Given the description of an element on the screen output the (x, y) to click on. 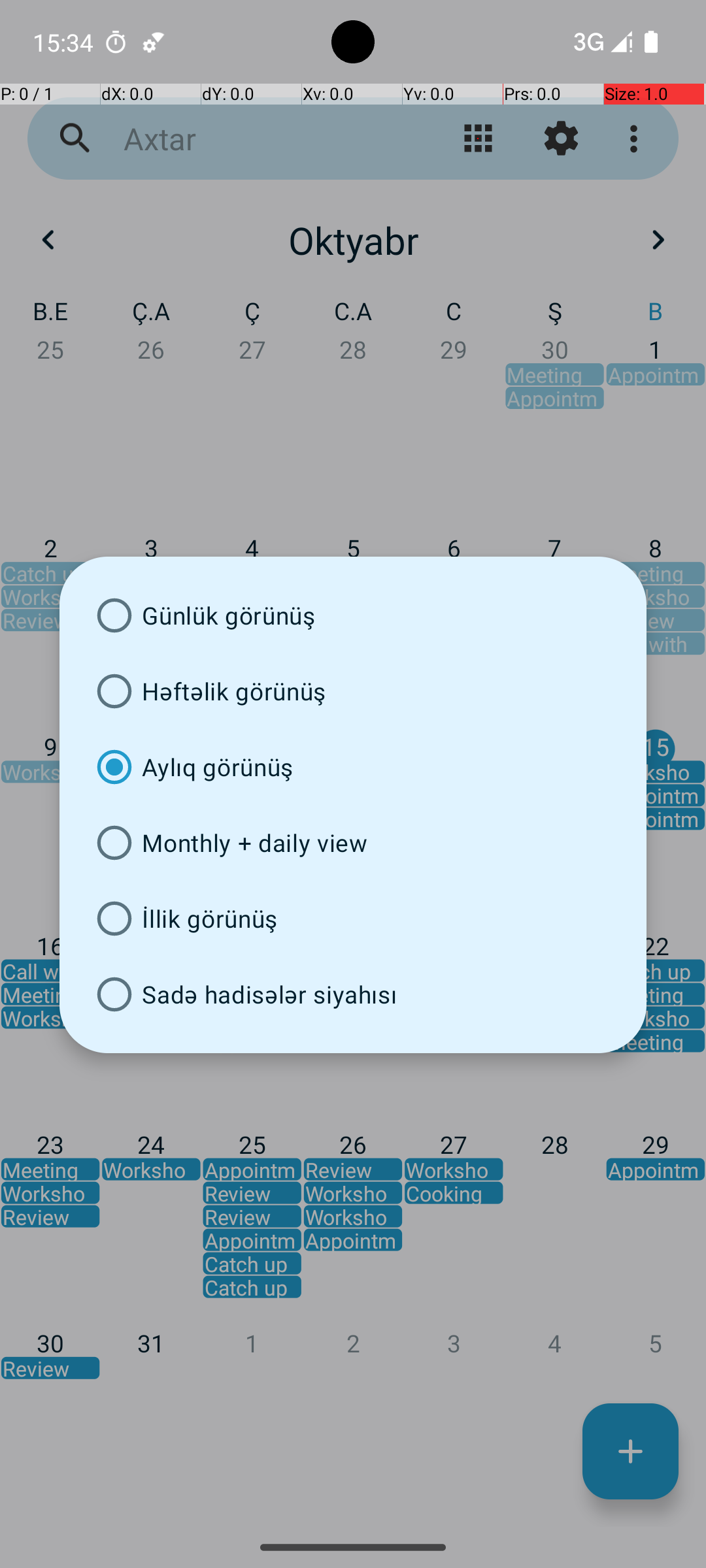
Günlük görünüş Element type: android.widget.RadioButton (352, 615)
Həftəlik görünüş Element type: android.widget.RadioButton (352, 691)
Aylıq görünüş Element type: android.widget.RadioButton (352, 766)
Monthly + daily view Element type: android.widget.RadioButton (352, 842)
İllik görünüş Element type: android.widget.RadioButton (352, 918)
Sadə hadisələr siyahısı Element type: android.widget.RadioButton (352, 994)
